Given the description of an element on the screen output the (x, y) to click on. 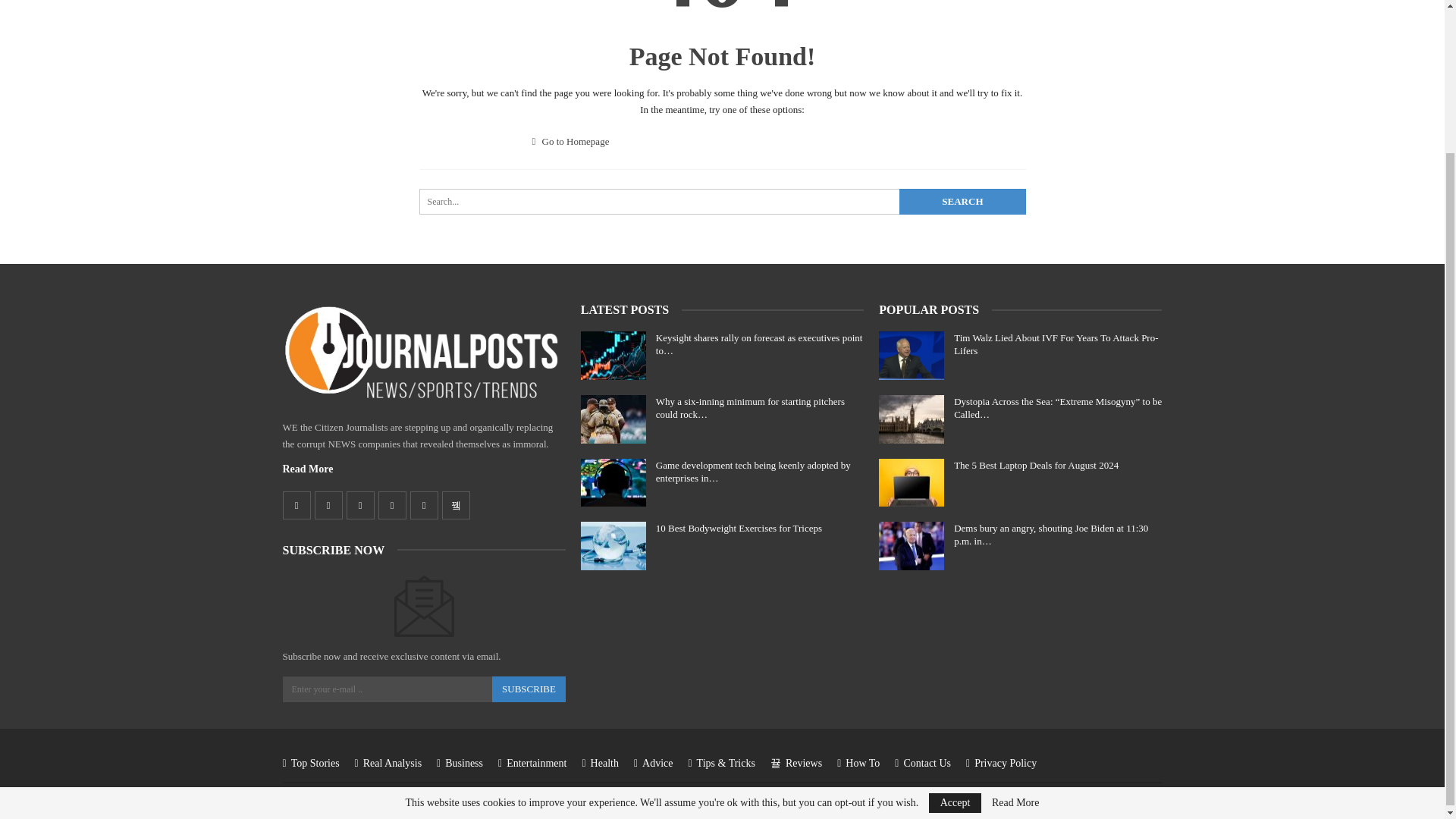
Search for: (722, 201)
Read More (307, 469)
Search (962, 201)
Search (962, 201)
The 5 Best Laptop Deals for August 2024 (911, 481)
10 Best Bodyweight Exercises for Triceps (613, 545)
Tim Walz Lied About IVF For Years To Attack Pro-Lifers (911, 355)
Search (962, 201)
Go to Homepage (571, 141)
